Given the description of an element on the screen output the (x, y) to click on. 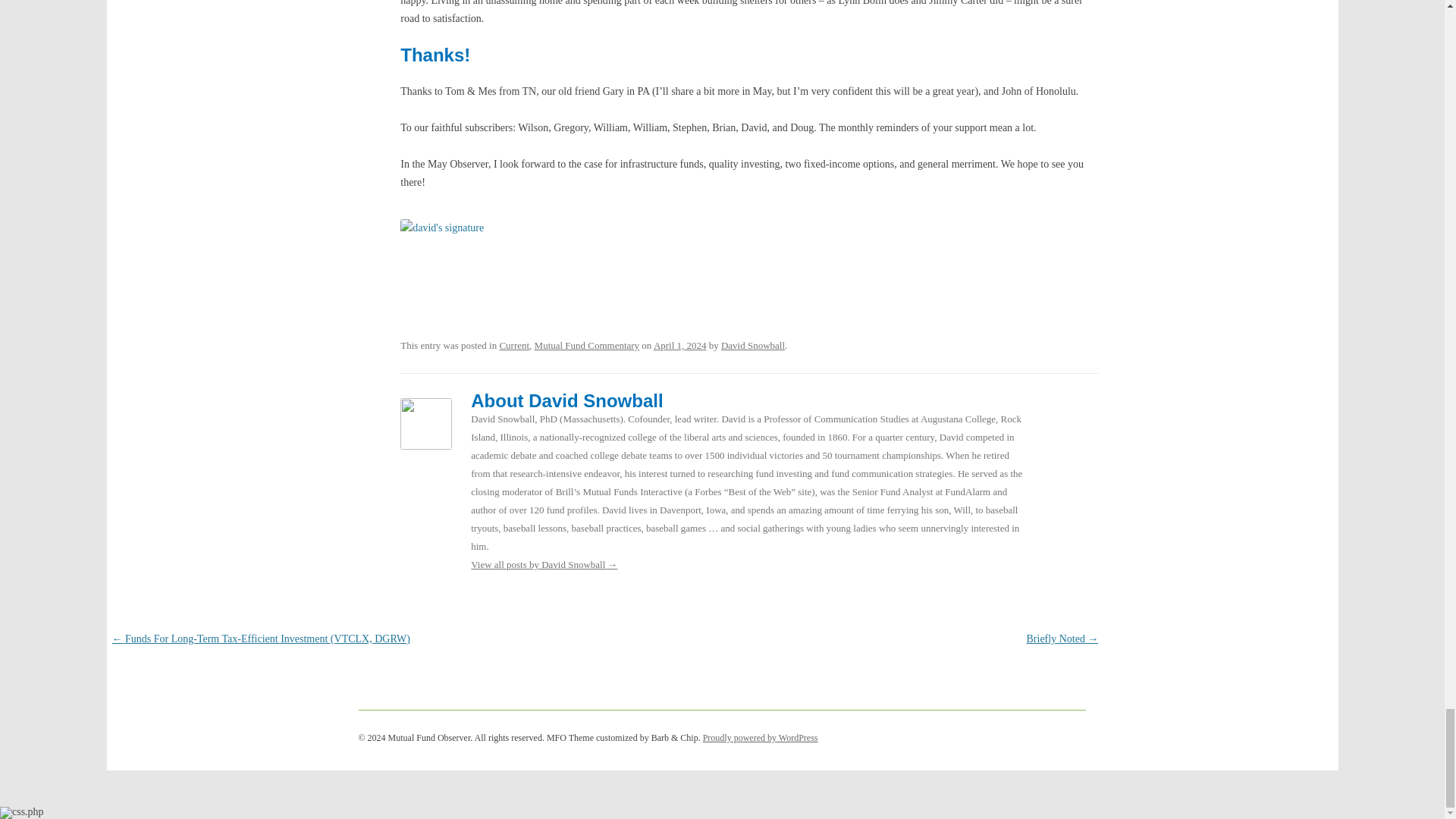
Semantic Personal Publishing Platform (760, 737)
9:39 pm (679, 345)
View all posts by David Snowball (752, 345)
